Given the description of an element on the screen output the (x, y) to click on. 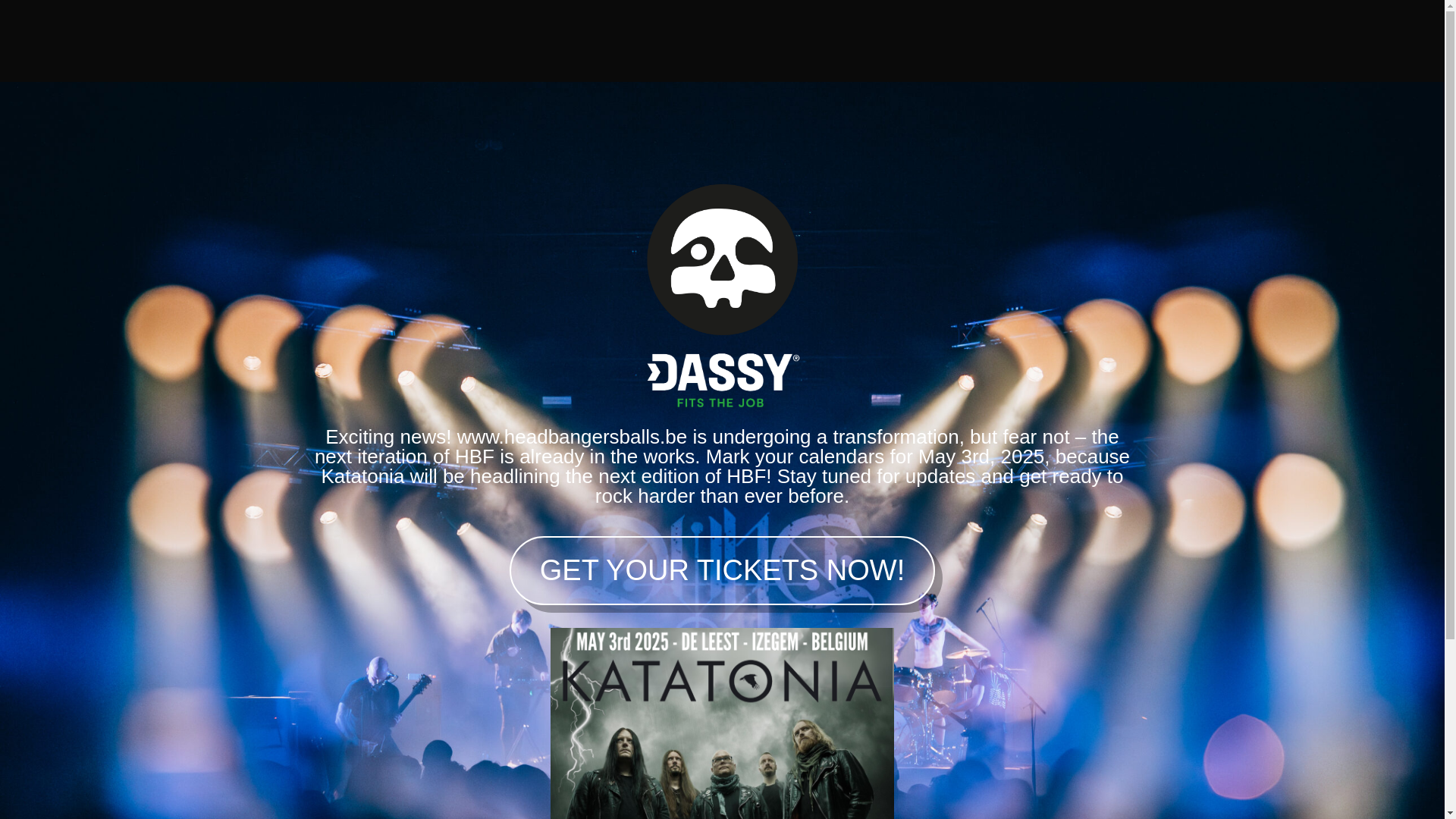
www.headbangersballs.be (572, 436)
GET YOUR TICKETS NOW! (721, 570)
HEADLINER HBF25 Facebook format (722, 723)
